Given the description of an element on the screen output the (x, y) to click on. 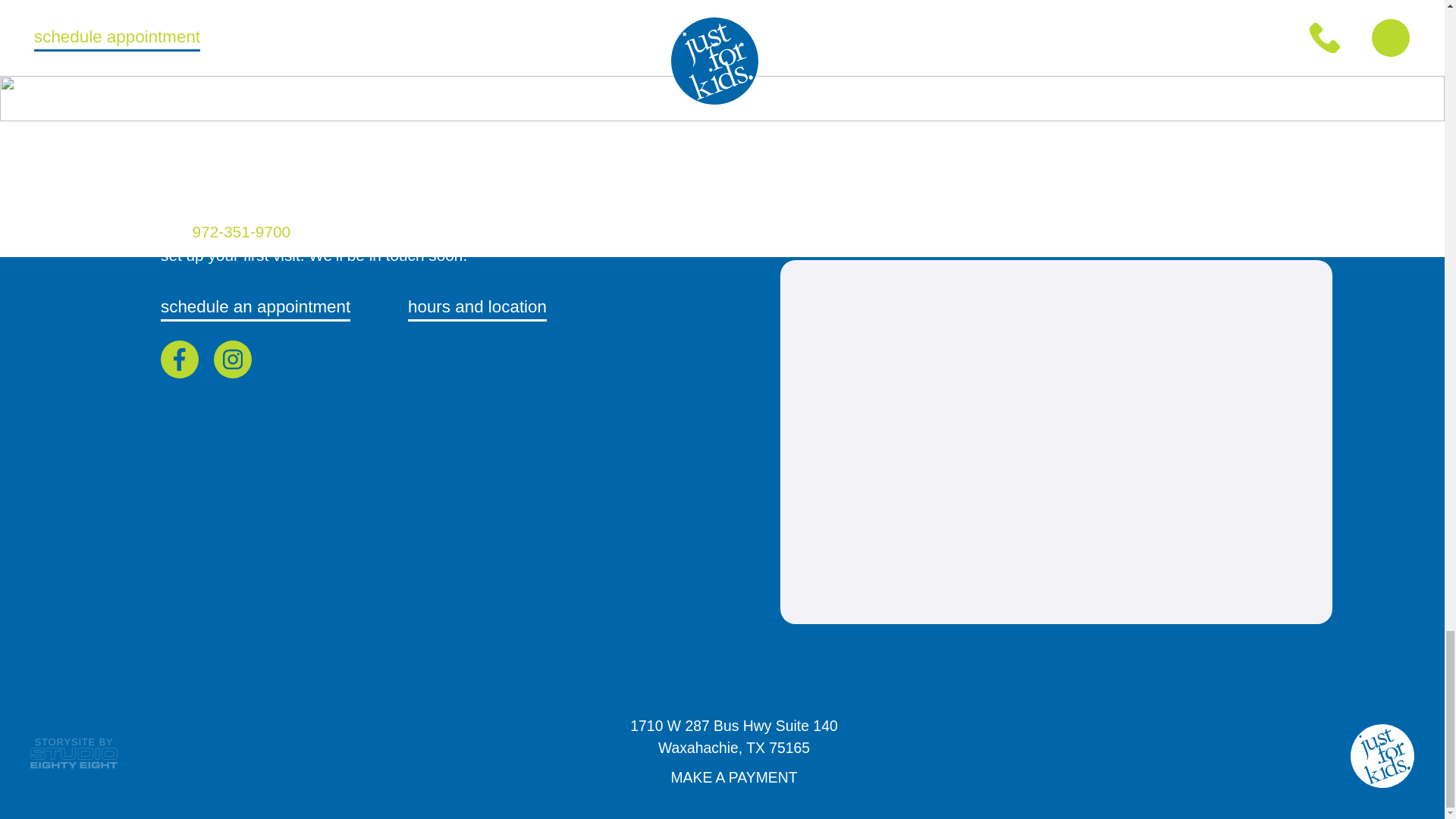
972-351-9700 (243, 231)
hours and location (733, 740)
schedule an appointment (477, 308)
Studio Eighty Eight (255, 308)
MAKE A PAYMENT (73, 755)
